Given the description of an element on the screen output the (x, y) to click on. 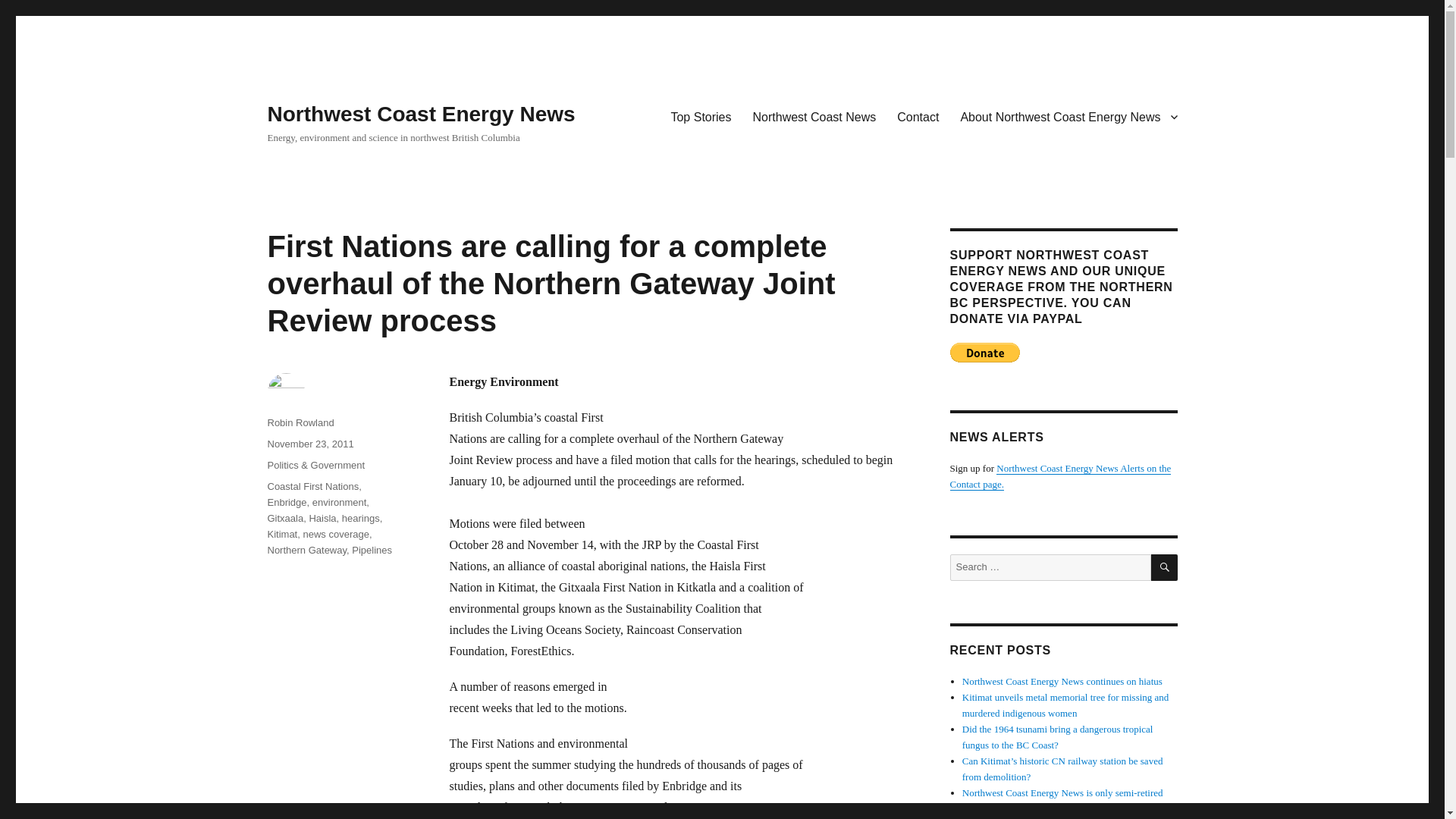
Kitimat (281, 533)
Northwest Coast Energy News is only semi-retired (1062, 792)
Haisla (322, 518)
Northwest Coast Energy News continues on hiatus (1061, 681)
Top Stories (700, 116)
About Northwest Coast Energy News (1068, 116)
news coverage (335, 533)
Northwest Coast Energy News (420, 114)
Pipelines (371, 550)
Northern Gateway (306, 550)
November 23, 2011 (309, 443)
hearings (361, 518)
Contact (917, 116)
